Given the description of an element on the screen output the (x, y) to click on. 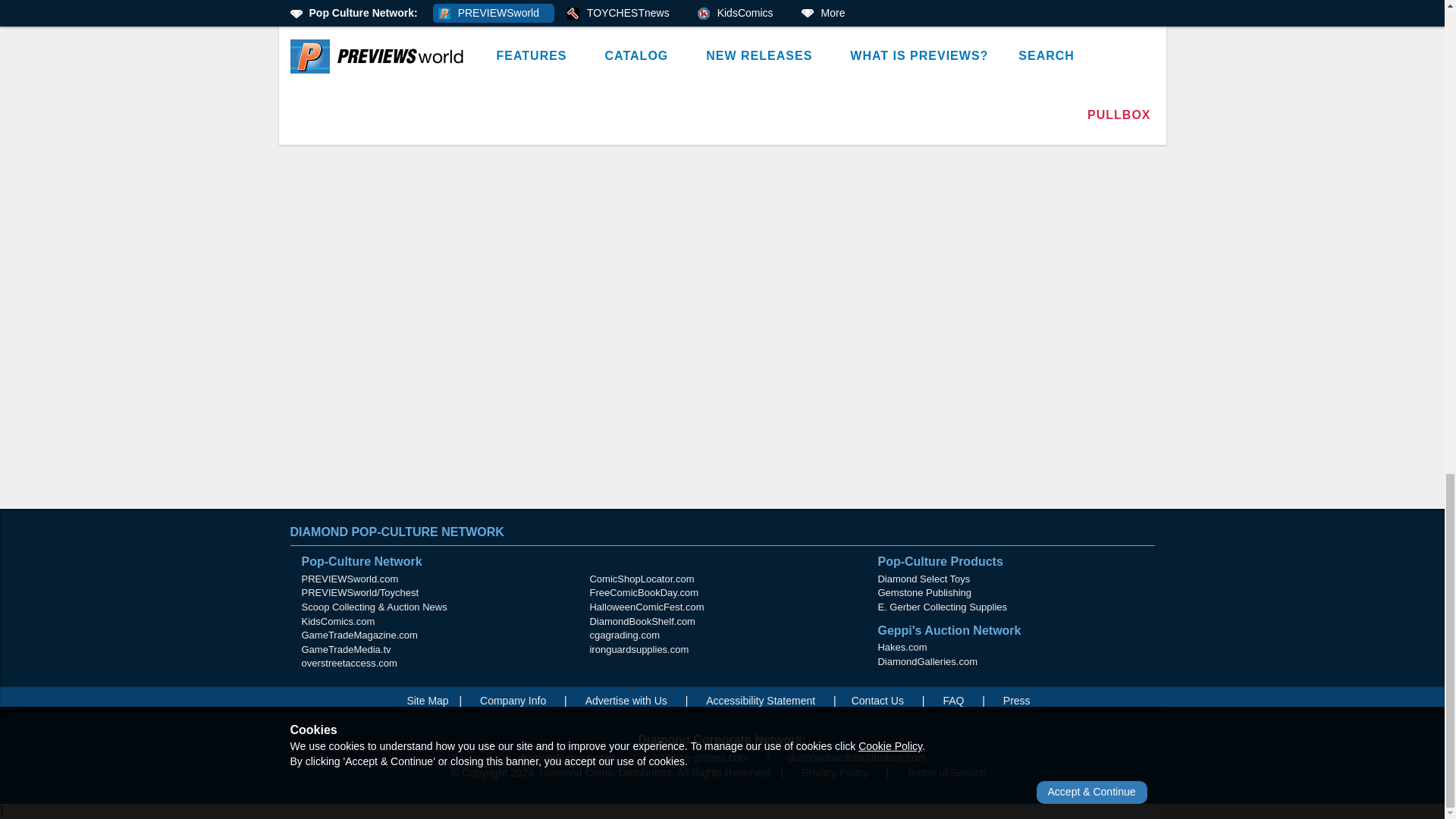
3rd party ad content (722, 428)
